Given the description of an element on the screen output the (x, y) to click on. 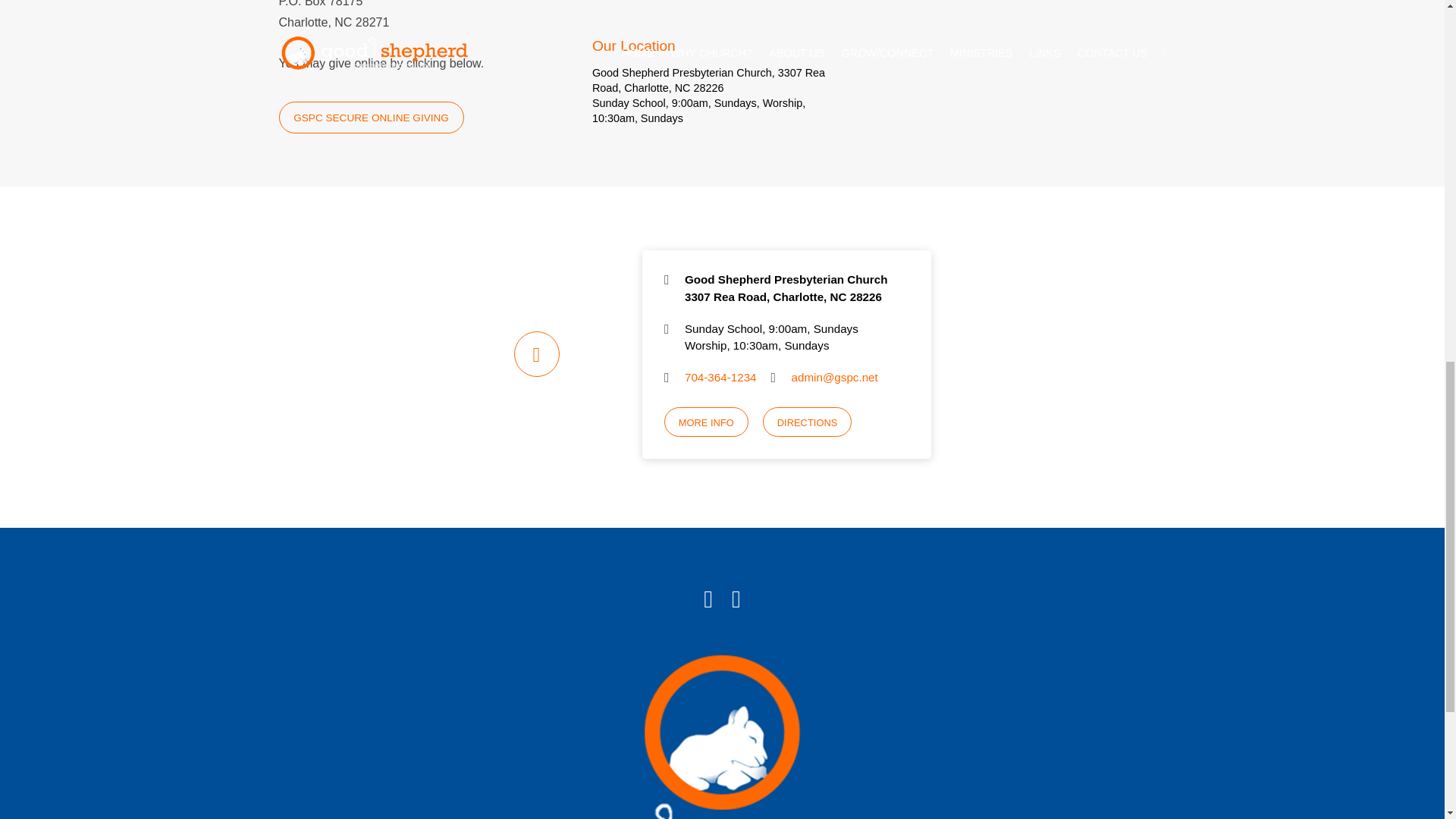
Our Location (720, 10)
GSPC SECURE ONLINE GIVING (371, 117)
Our Location (633, 45)
Our Location (633, 45)
